Given the description of an element on the screen output the (x, y) to click on. 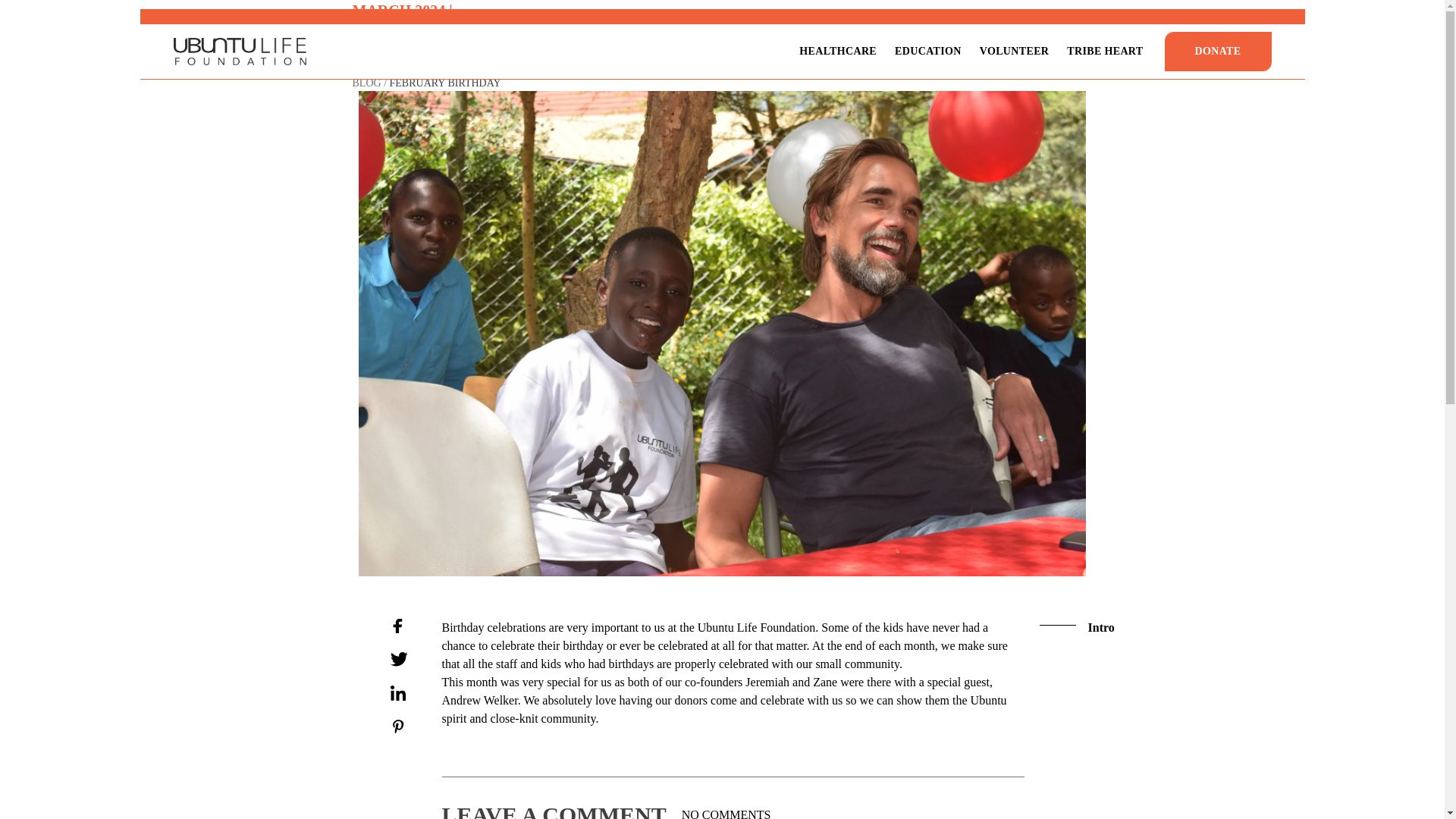
HEALTHCARE (837, 51)
TRIBE HEART (1104, 51)
DONATE (1217, 51)
VOLUNTEER (1014, 51)
EDUCATION (927, 51)
BLOG (366, 82)
